Given the description of an element on the screen output the (x, y) to click on. 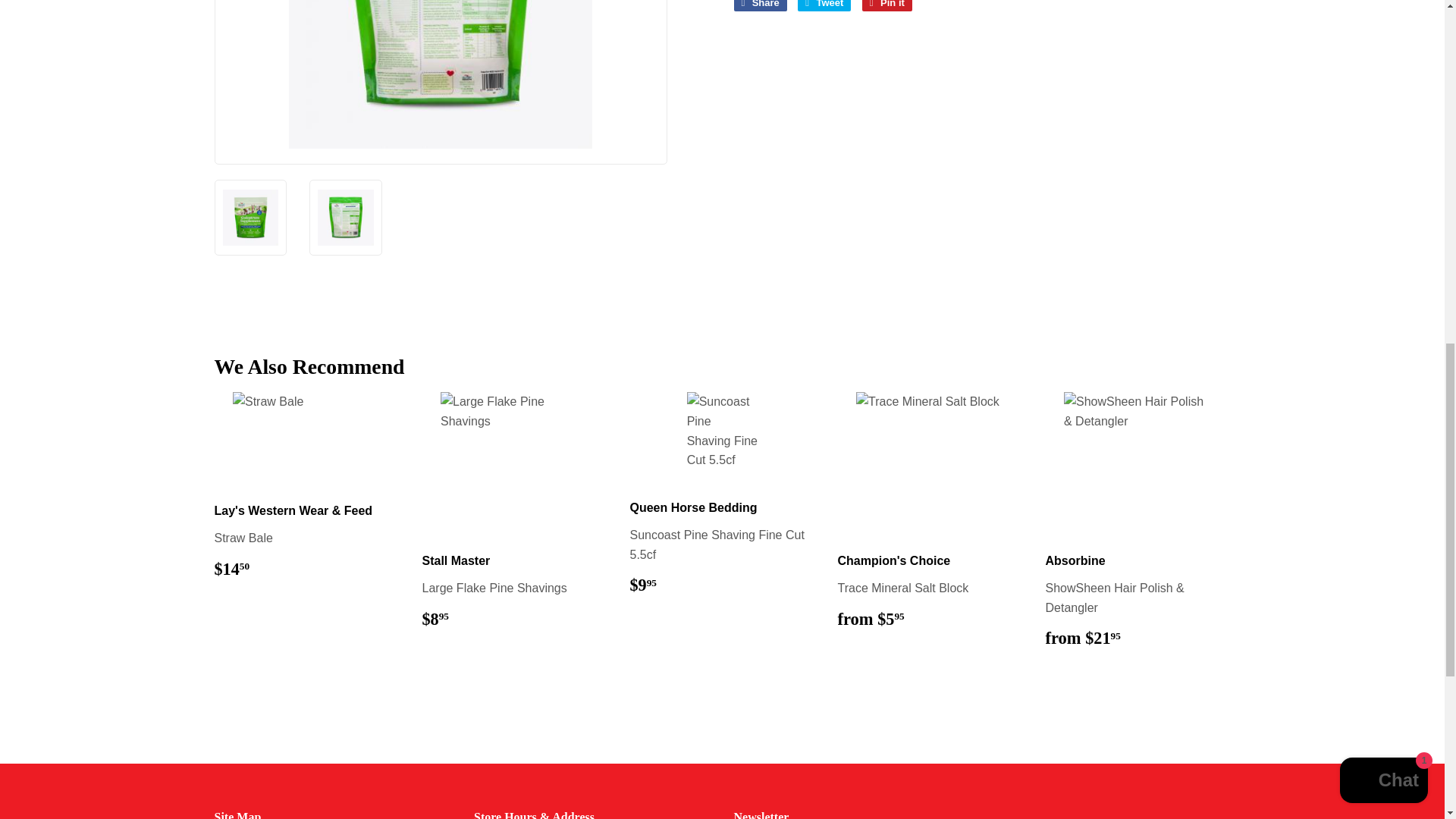
Tweet on Twitter (823, 5)
Share on Facebook (760, 5)
Pin on Pinterest (886, 5)
Open Product Zoom (441, 74)
